Given the description of an element on the screen output the (x, y) to click on. 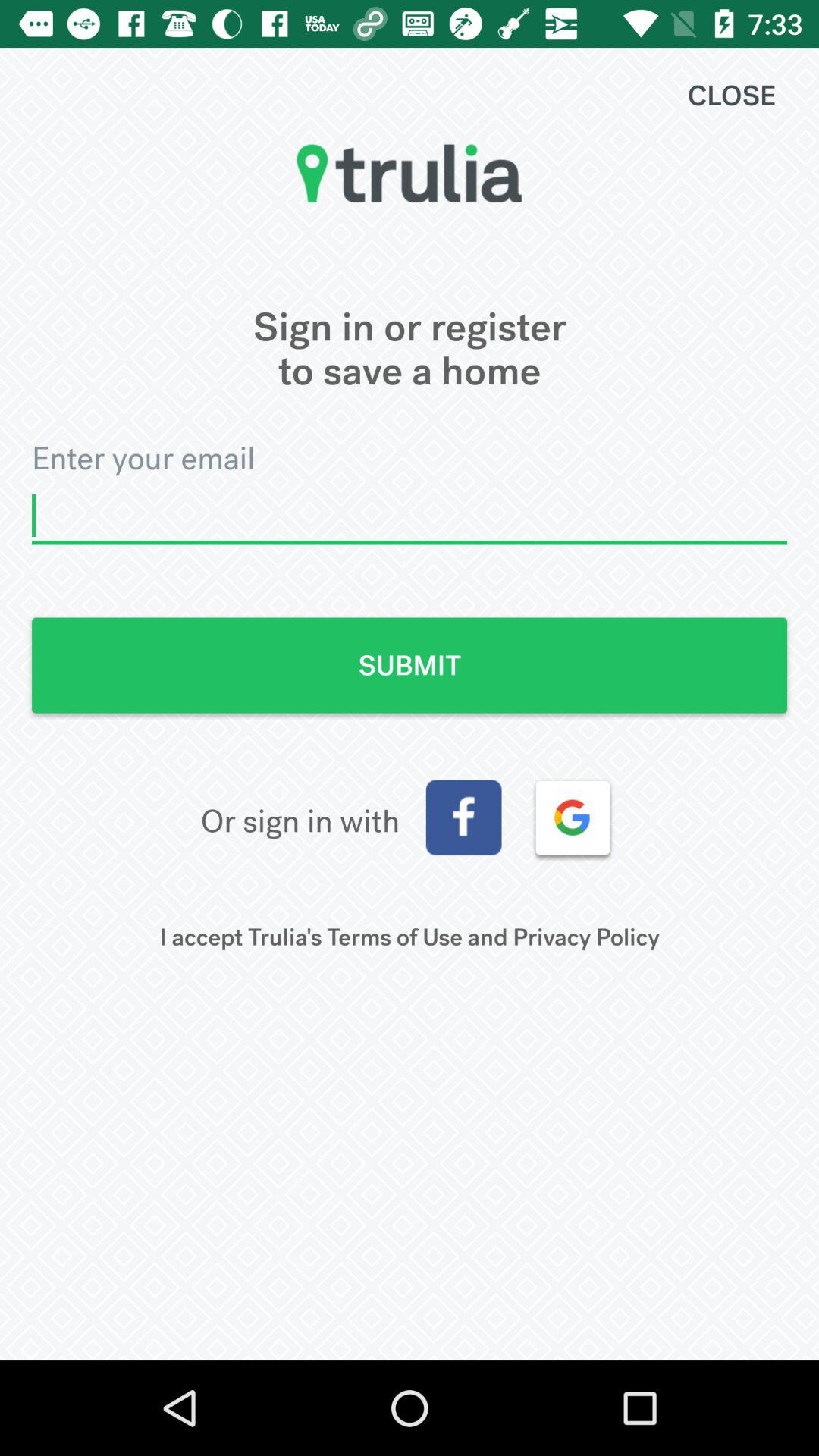
open sign in with facebook (463, 817)
